Given the description of an element on the screen output the (x, y) to click on. 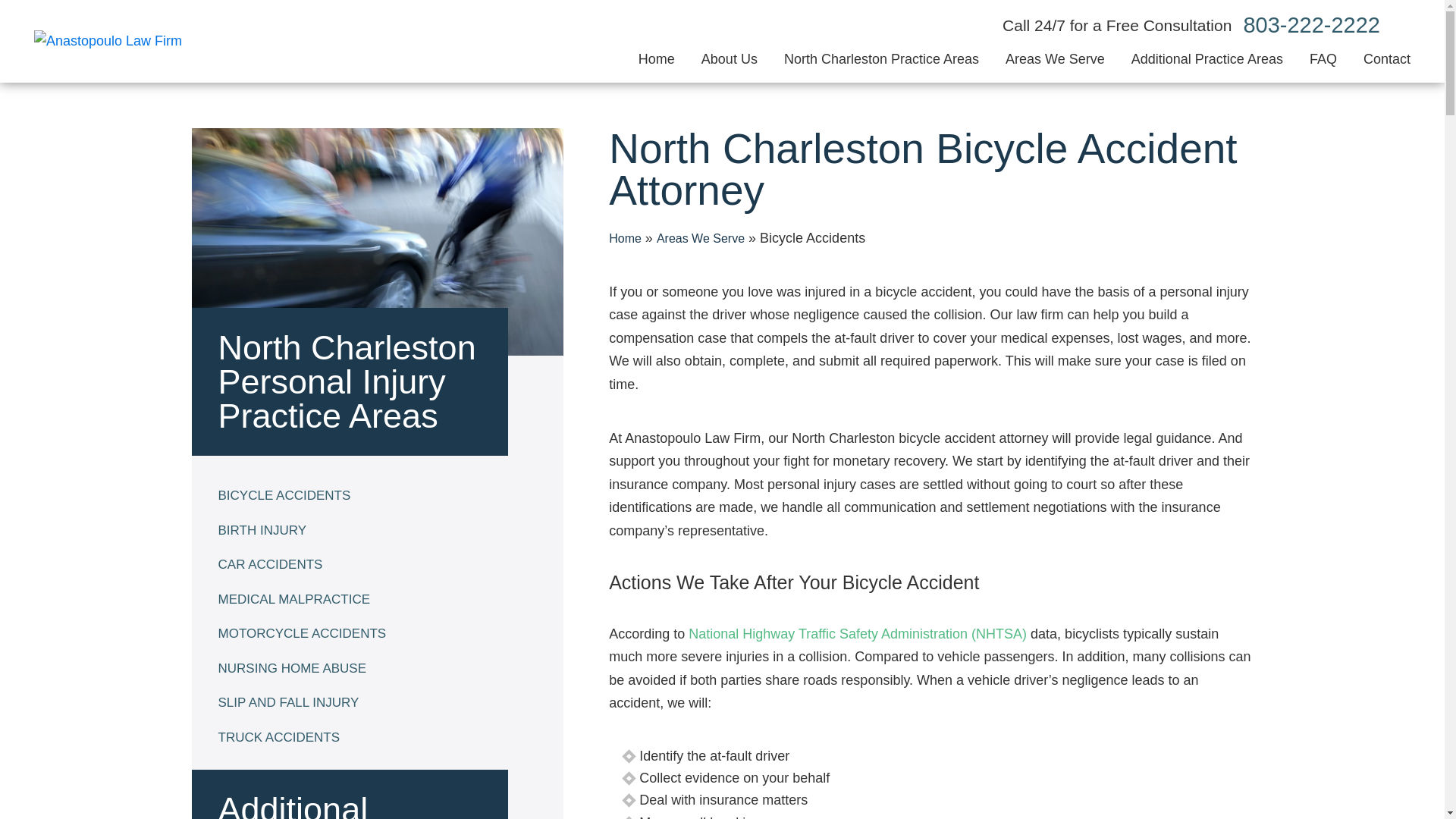
North Charleston Practice Areas (881, 59)
Areas We Serve (1055, 59)
loupe (1400, 25)
Home (657, 59)
Anastopoulo Law Firm (107, 41)
About Us (729, 59)
North Charleston Bicycle Accident Attorney (378, 241)
803-222-2222 (1311, 25)
loupe (1400, 25)
